Given the description of an element on the screen output the (x, y) to click on. 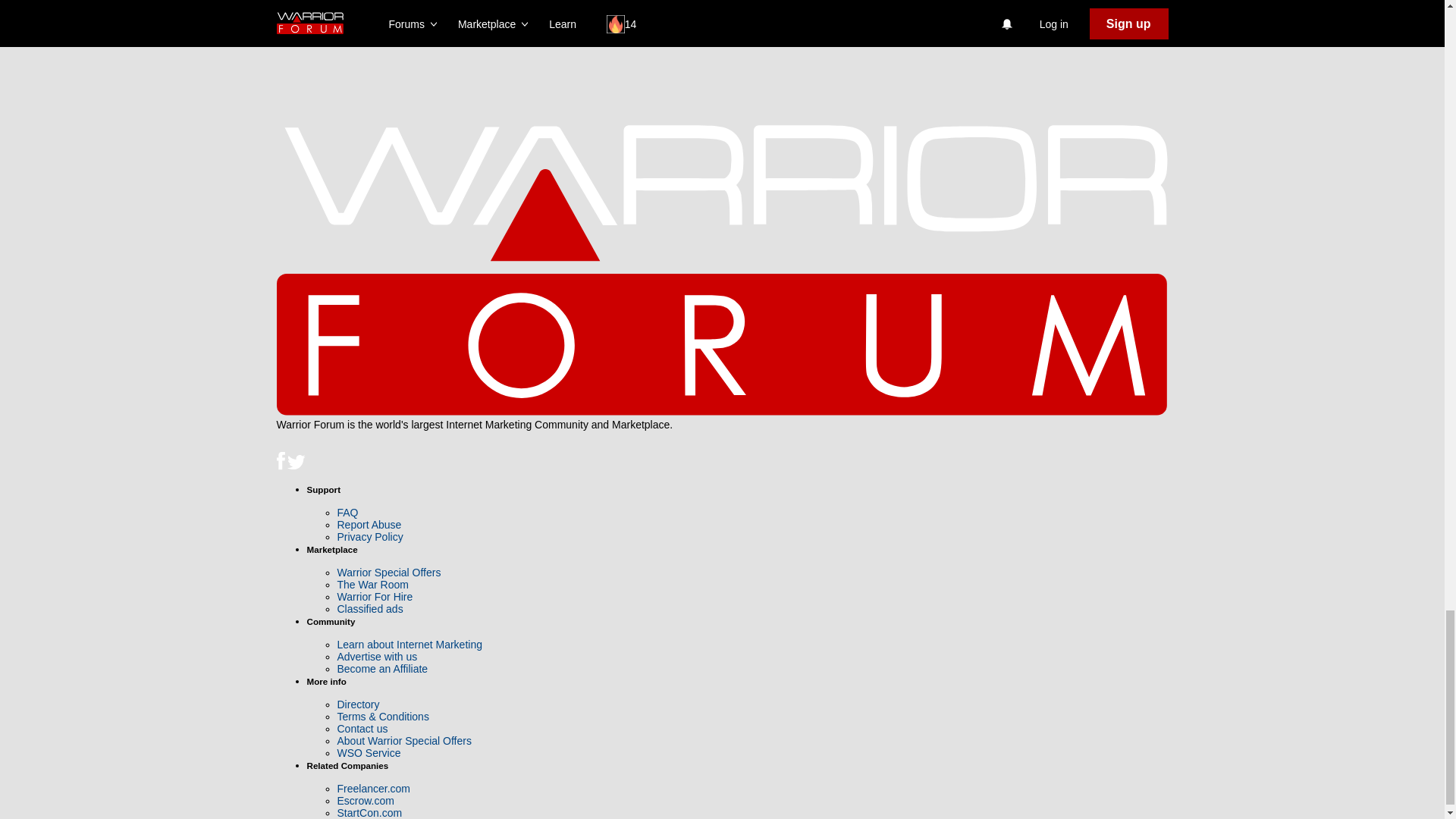
Bird (295, 462)
Warrior Forum on Twitter (295, 466)
Warrior Forum on Facebook (281, 466)
